Given the description of an element on the screen output the (x, y) to click on. 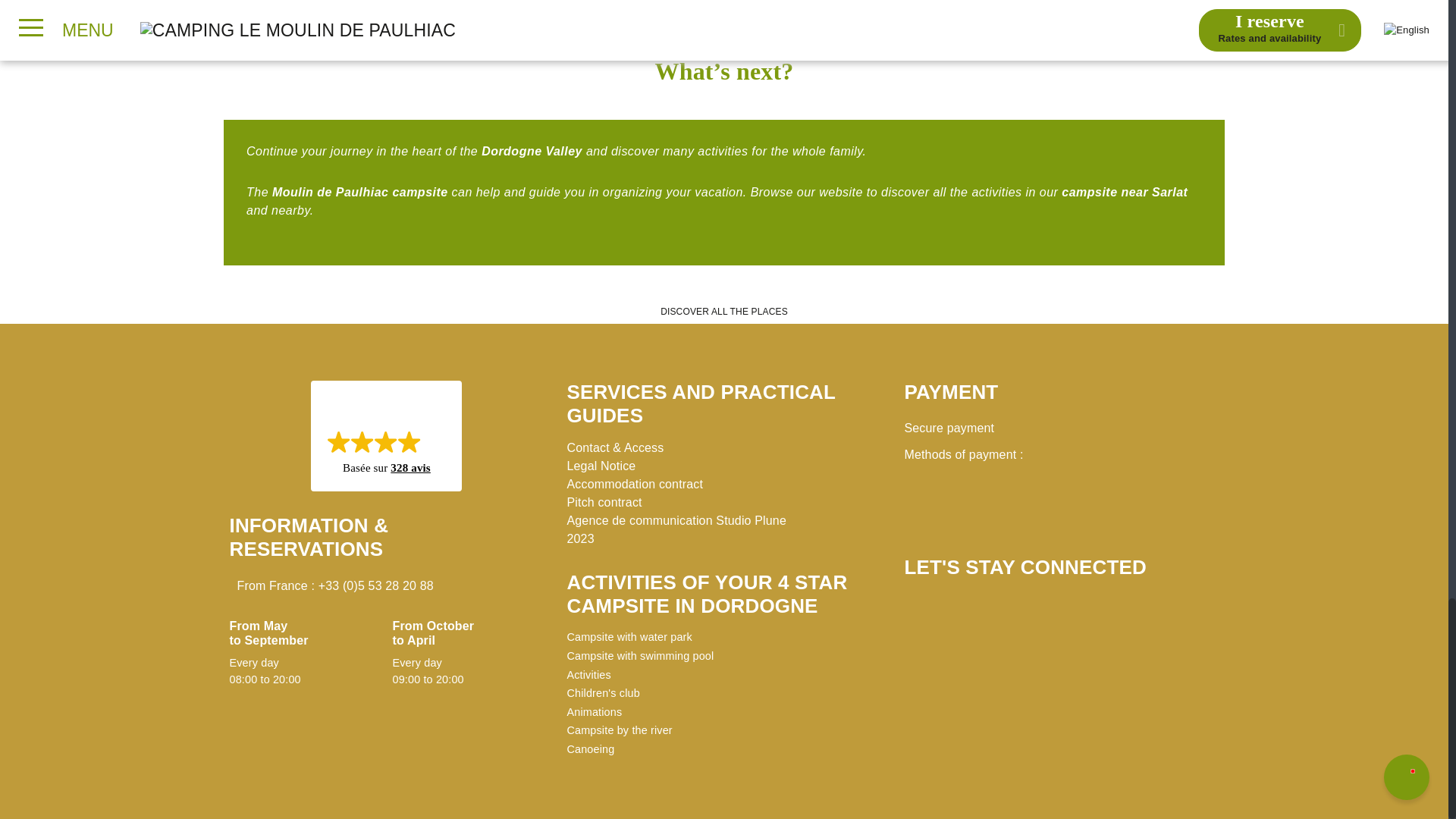
Mastercard (1008, 508)
Cheque (1077, 508)
Visa (938, 508)
ANCV (1146, 508)
